Given the description of an element on the screen output the (x, y) to click on. 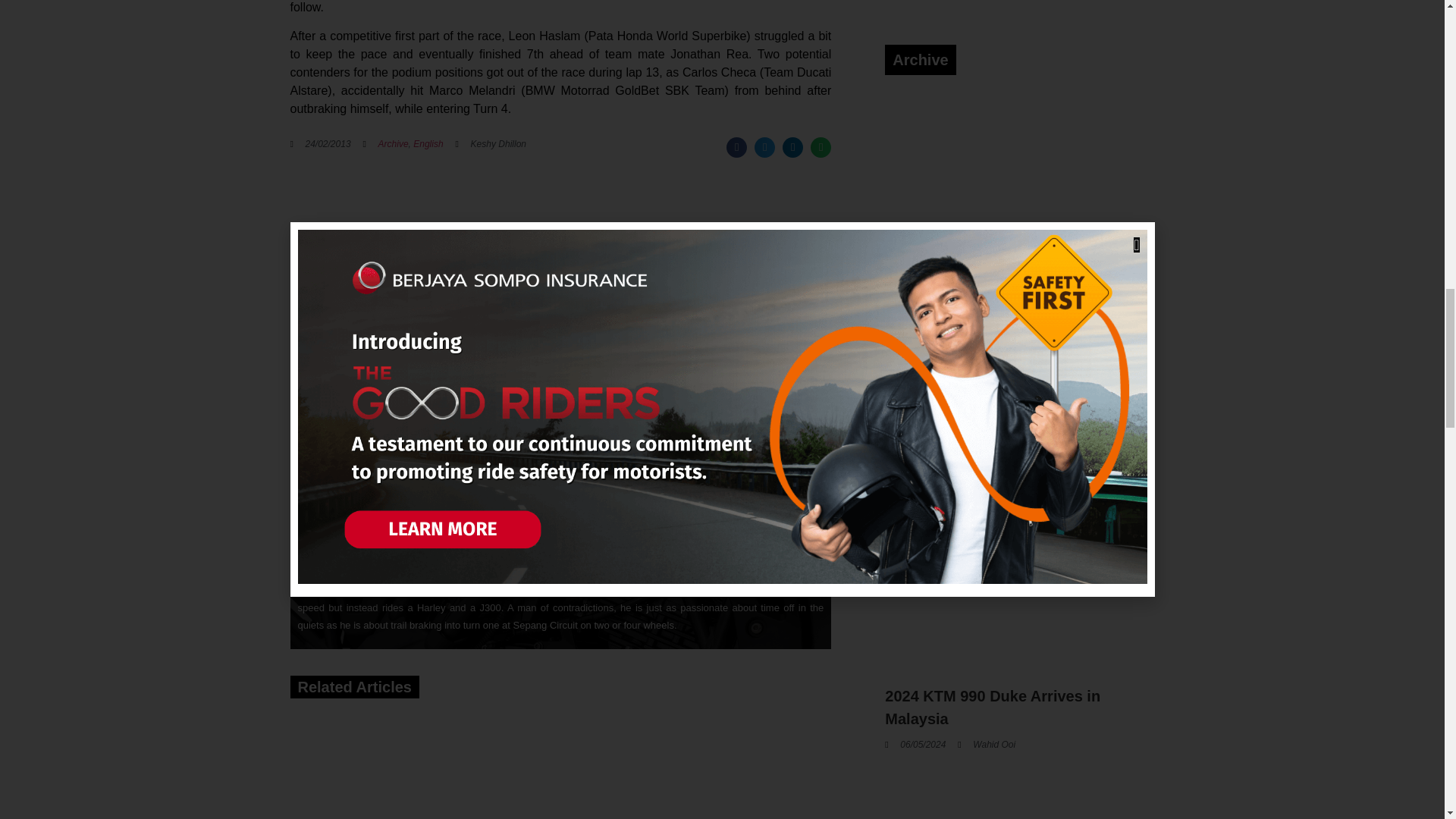
Archive (393, 143)
Keshy Dhillon (347, 565)
English (427, 143)
Keshy Dhillon (490, 143)
Editor Info (334, 505)
